Given the description of an element on the screen output the (x, y) to click on. 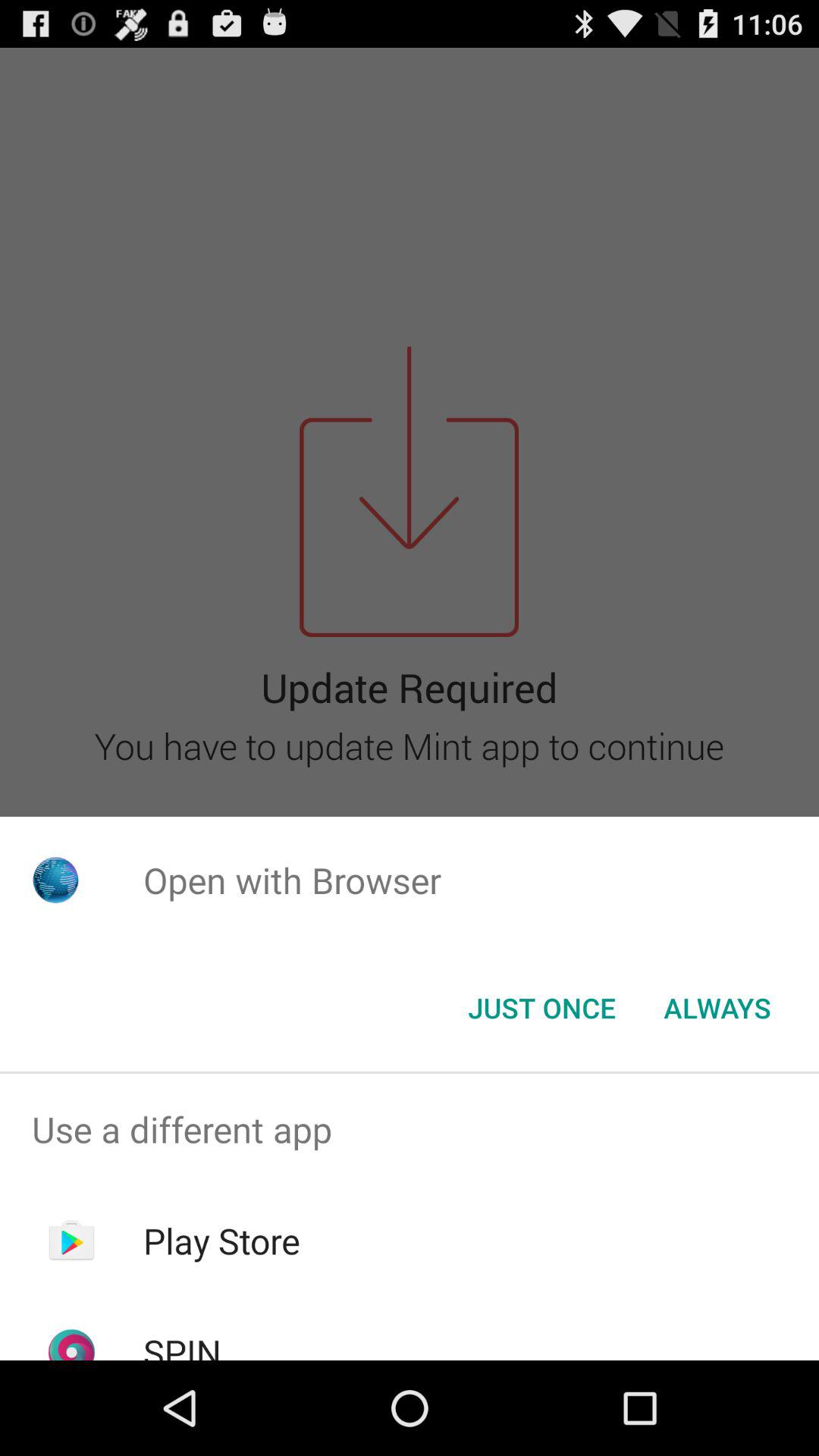
turn off the play store item (221, 1240)
